Given the description of an element on the screen output the (x, y) to click on. 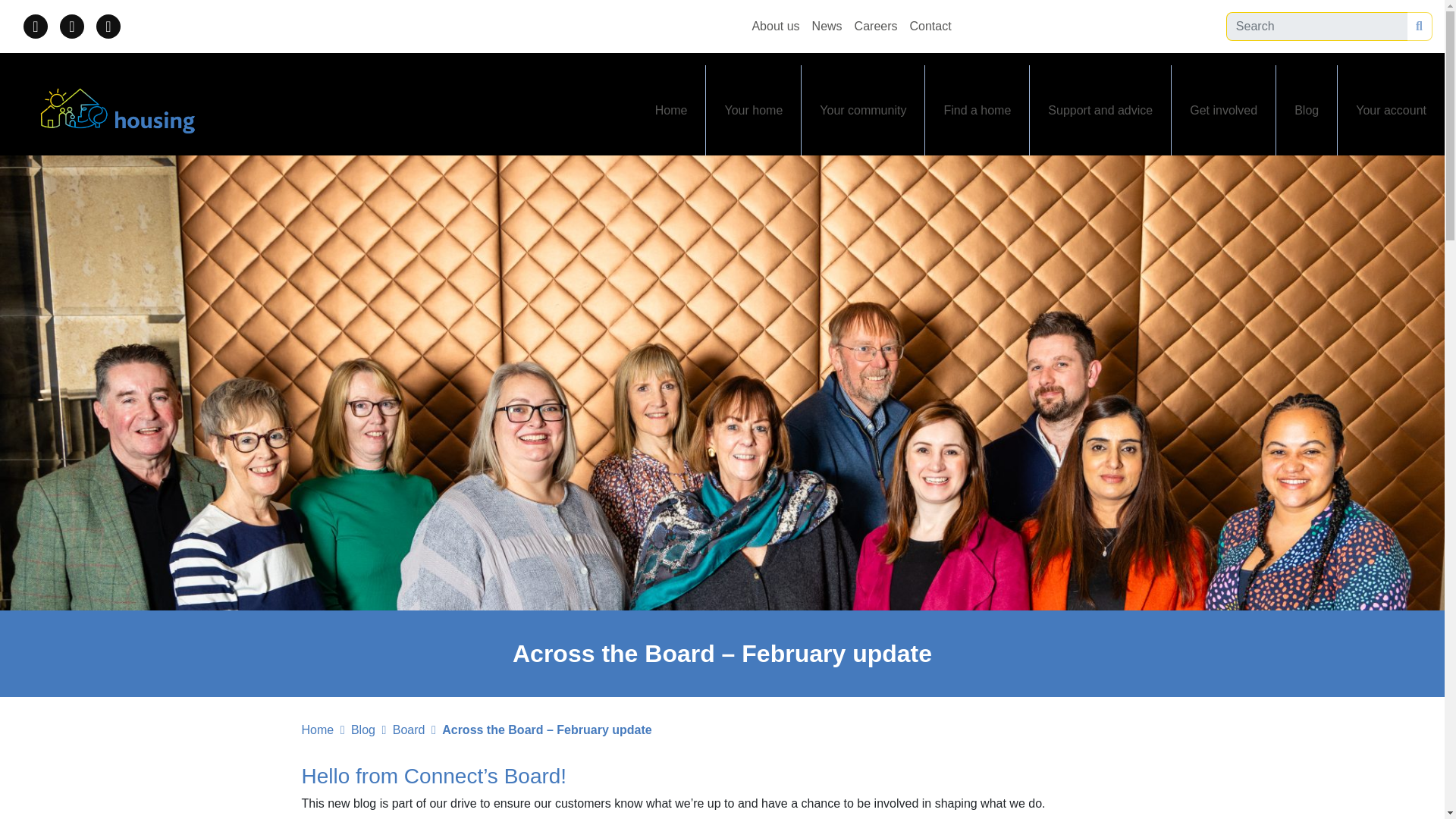
Your community (863, 110)
Climate change and the environment (912, 164)
Cost of living support (1163, 164)
Support and advice (1100, 110)
Contact (931, 25)
Your home (754, 110)
Homes for older people (999, 164)
Careers (876, 25)
About us (775, 25)
News (827, 25)
Home (671, 110)
Find a home (976, 110)
